Given the description of an element on the screen output the (x, y) to click on. 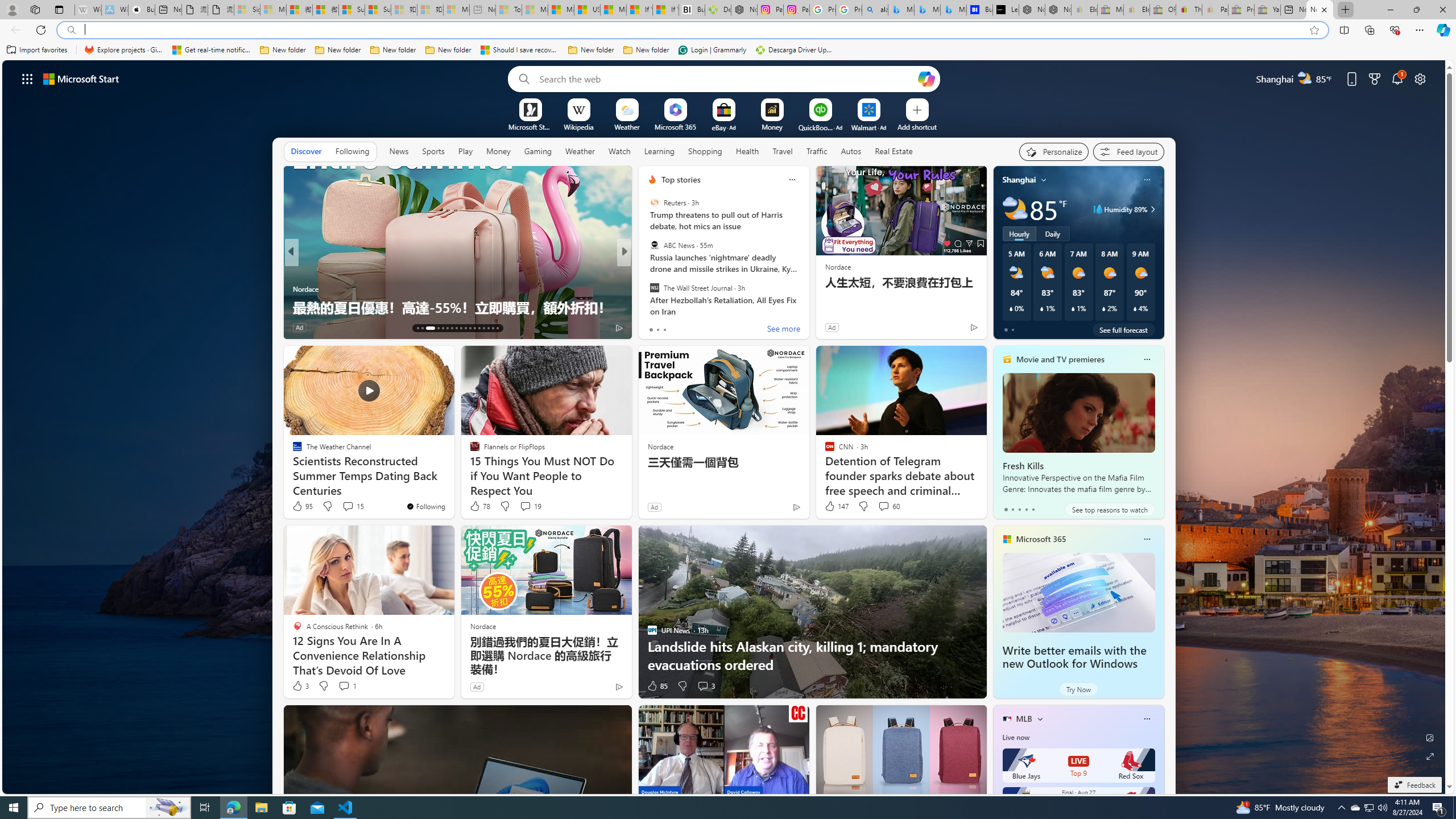
Buy iPad - Apple (141, 9)
Shopping (705, 151)
View comments 3 Comment (705, 685)
Real Estate (893, 151)
View comments 55 Comment (703, 327)
Edit Background (1430, 737)
AutomationID: tab-28 (492, 328)
AutomationID: tab-18 (446, 328)
AutomationID: tab-19 (451, 328)
AutomationID: tab-23 (470, 328)
Write better emails with the new Outlook for Windows (1074, 657)
AutomationID: tab-25 (478, 328)
